Given the description of an element on the screen output the (x, y) to click on. 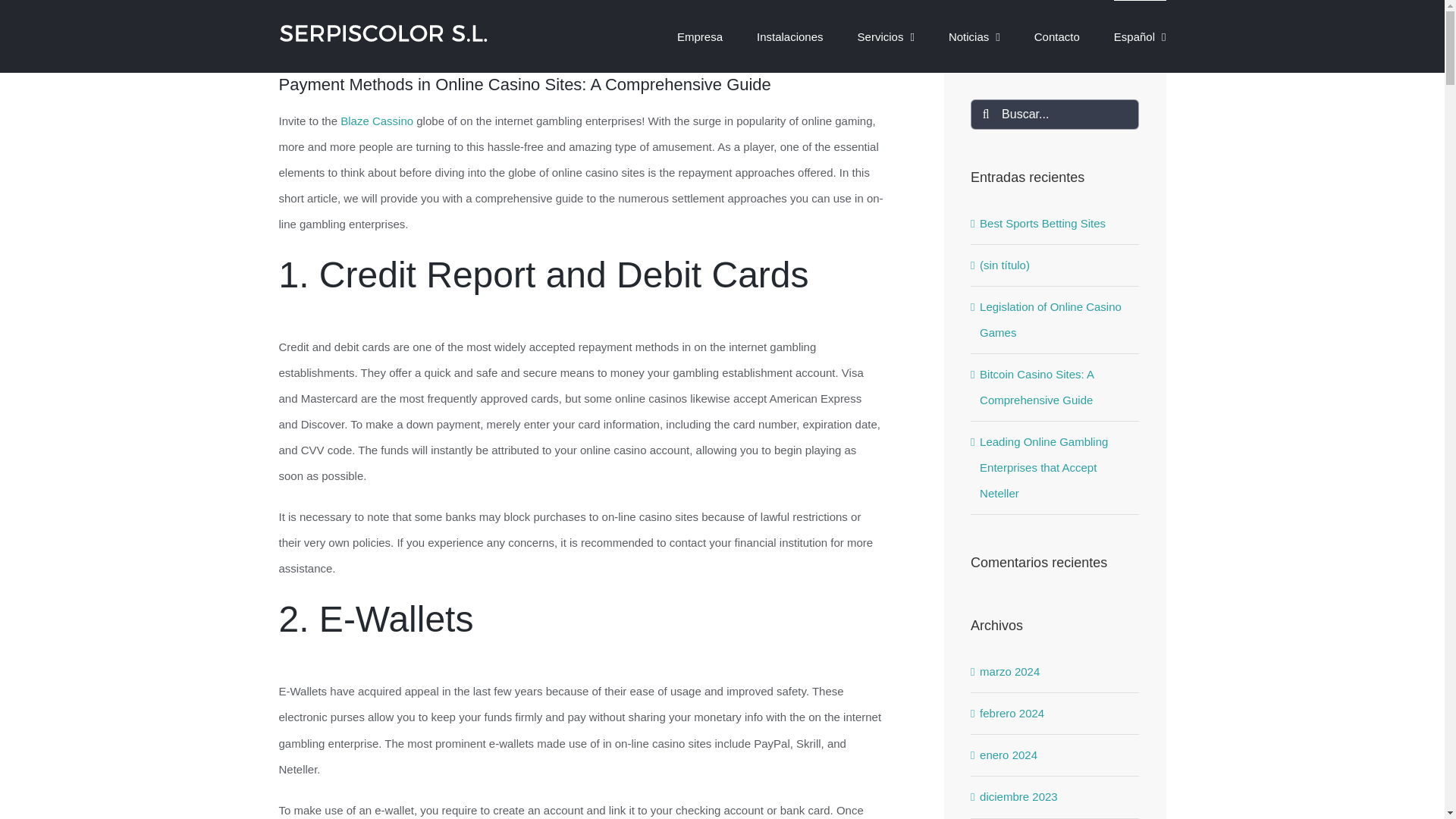
Instalaciones (790, 36)
Blaze Cassino (376, 120)
